Given the description of an element on the screen output the (x, y) to click on. 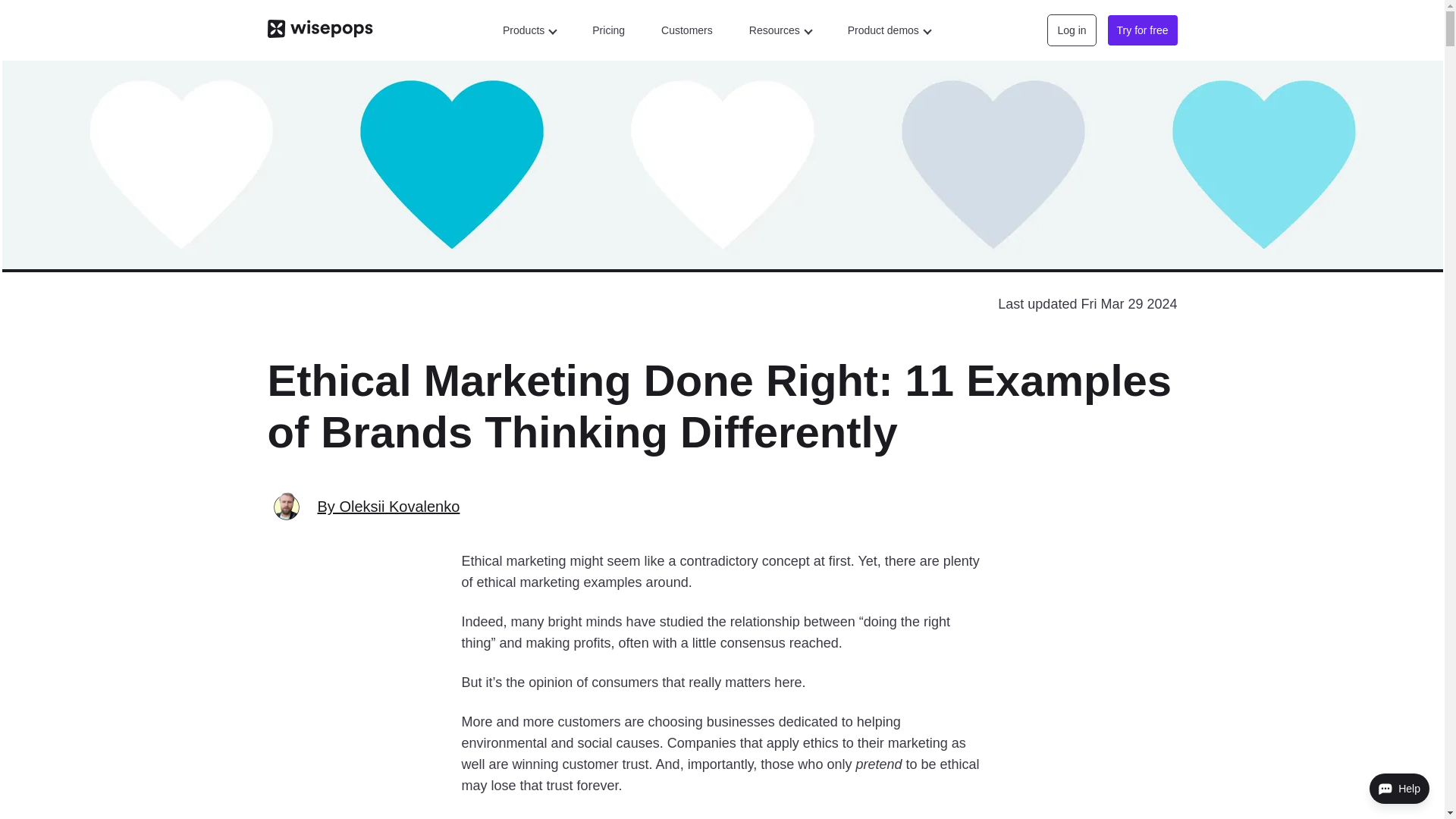
Customers (687, 30)
Pricing (608, 30)
By Oleksii Kovalenko (388, 506)
Log in (1071, 30)
Try for free (1142, 30)
